Given the description of an element on the screen output the (x, y) to click on. 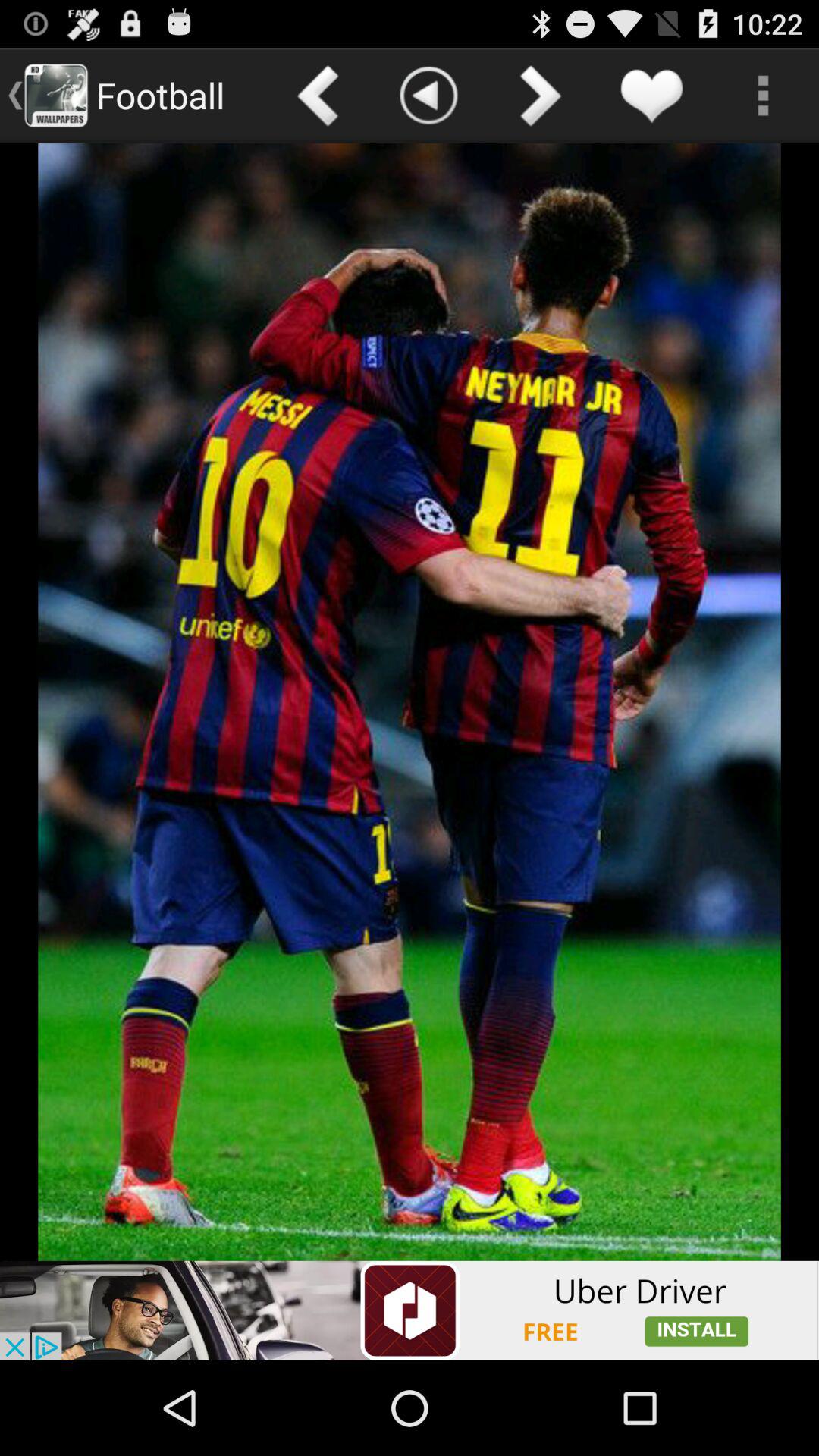
go to menu (763, 95)
